Given the description of an element on the screen output the (x, y) to click on. 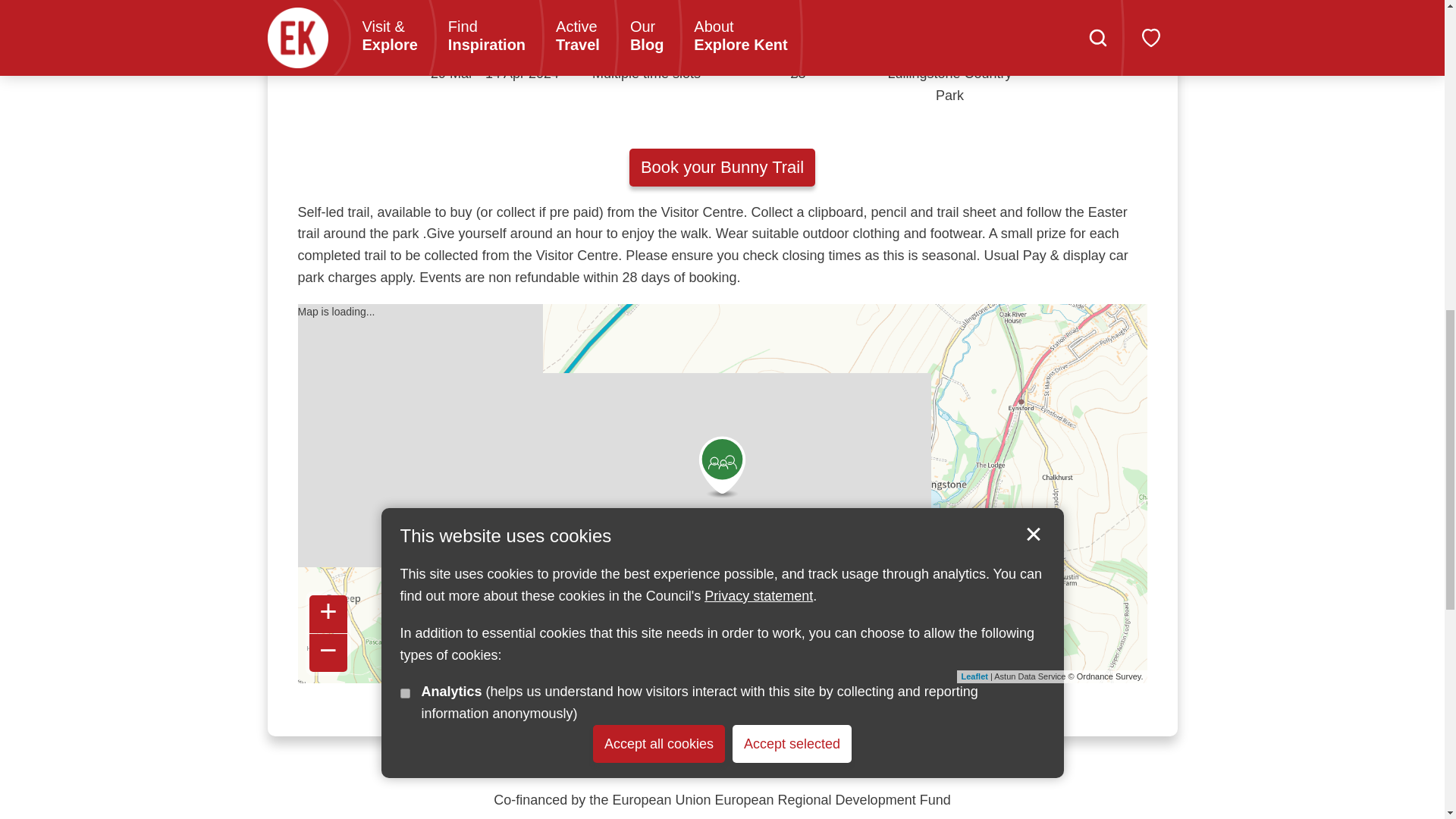
Leaflet (973, 675)
Zoom out (327, 652)
Zoom in (327, 614)
Book your Bunny Trail (721, 167)
A JS library for interactive maps (973, 675)
